Given the description of an element on the screen output the (x, y) to click on. 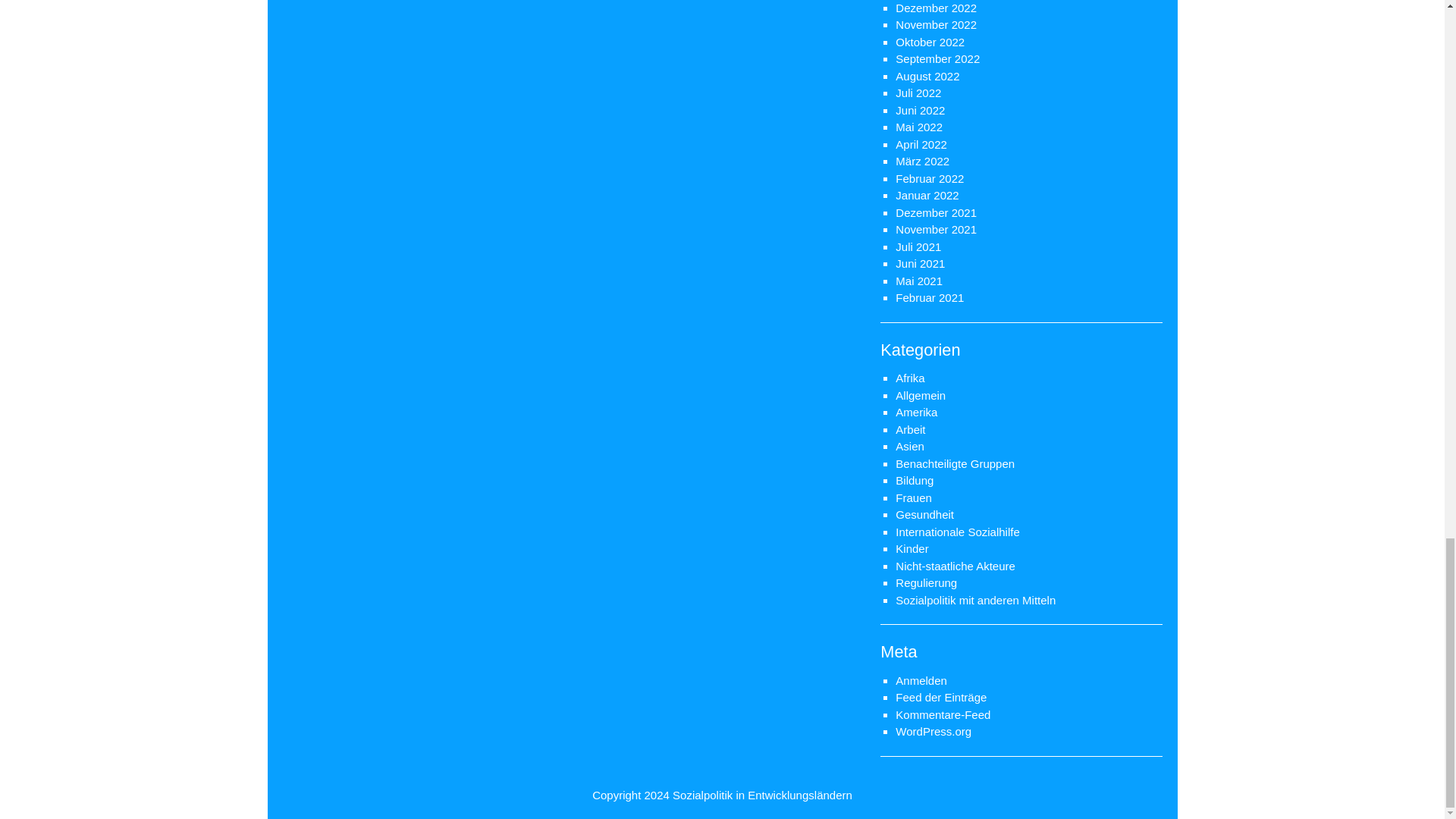
Dezember 2022 (935, 7)
